Given the description of an element on the screen output the (x, y) to click on. 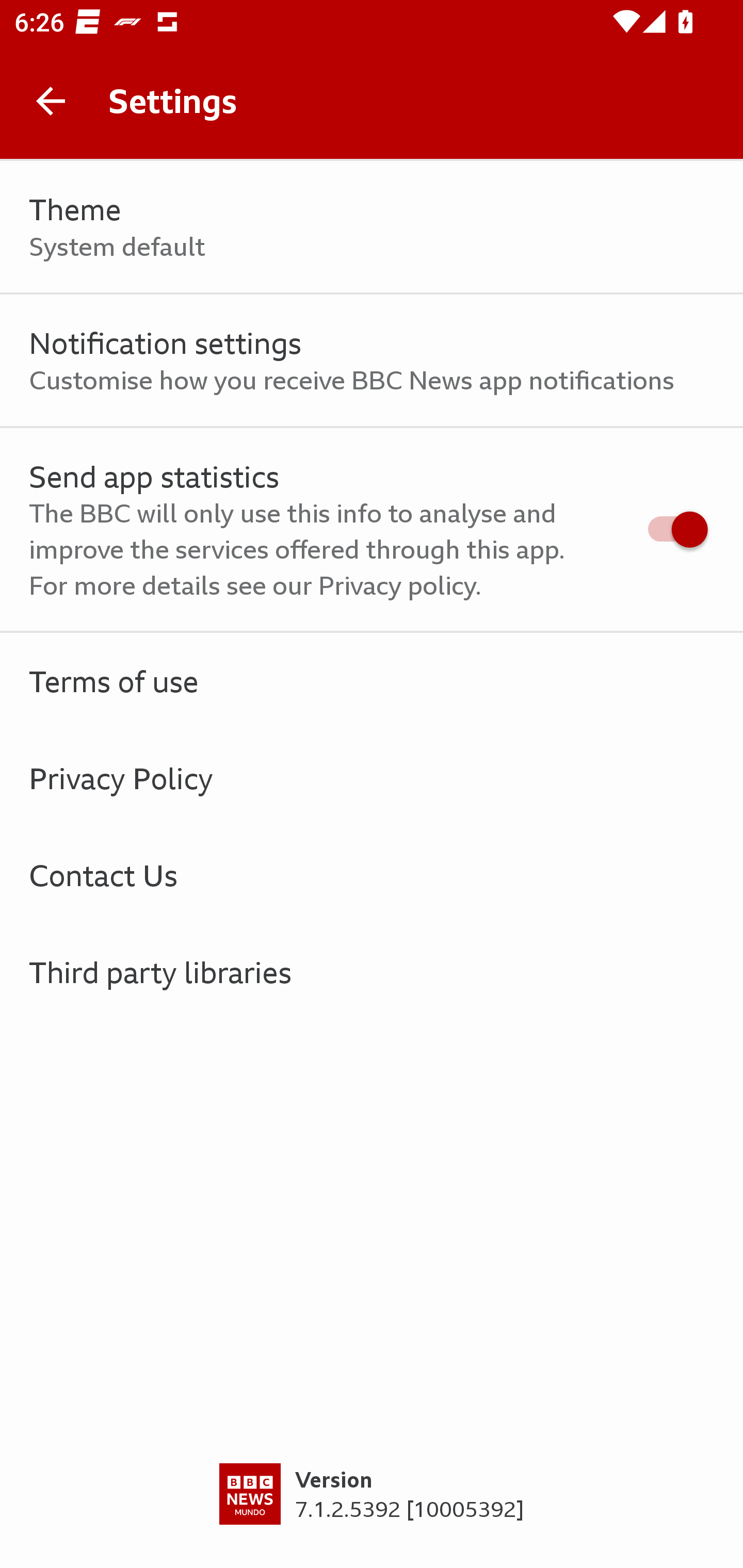
Back (50, 101)
Theme System default (371, 227)
Terms of use (371, 681)
Privacy Policy (371, 777)
Contact Us (371, 874)
Third party libraries (371, 971)
Version 7.1.2.5392 [10005392] (371, 1515)
